Given the description of an element on the screen output the (x, y) to click on. 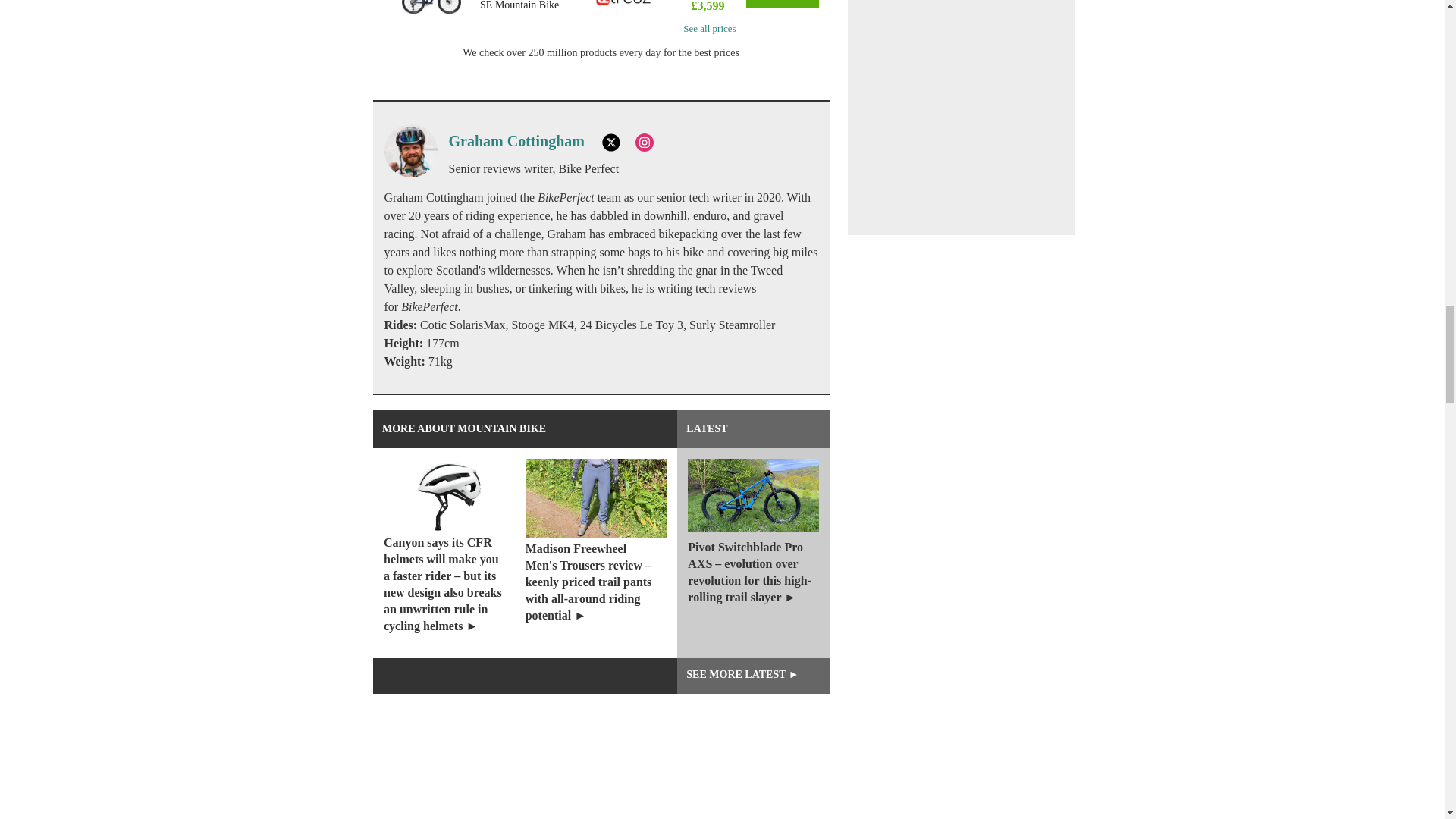
Tredz Limited (624, 6)
Cannondale Scalpel SE Mountain Bike (528, 6)
See all prices (708, 28)
Cannondale Scalpel Carbon SE... (431, 11)
VIEW (781, 3)
